Given the description of an element on the screen output the (x, y) to click on. 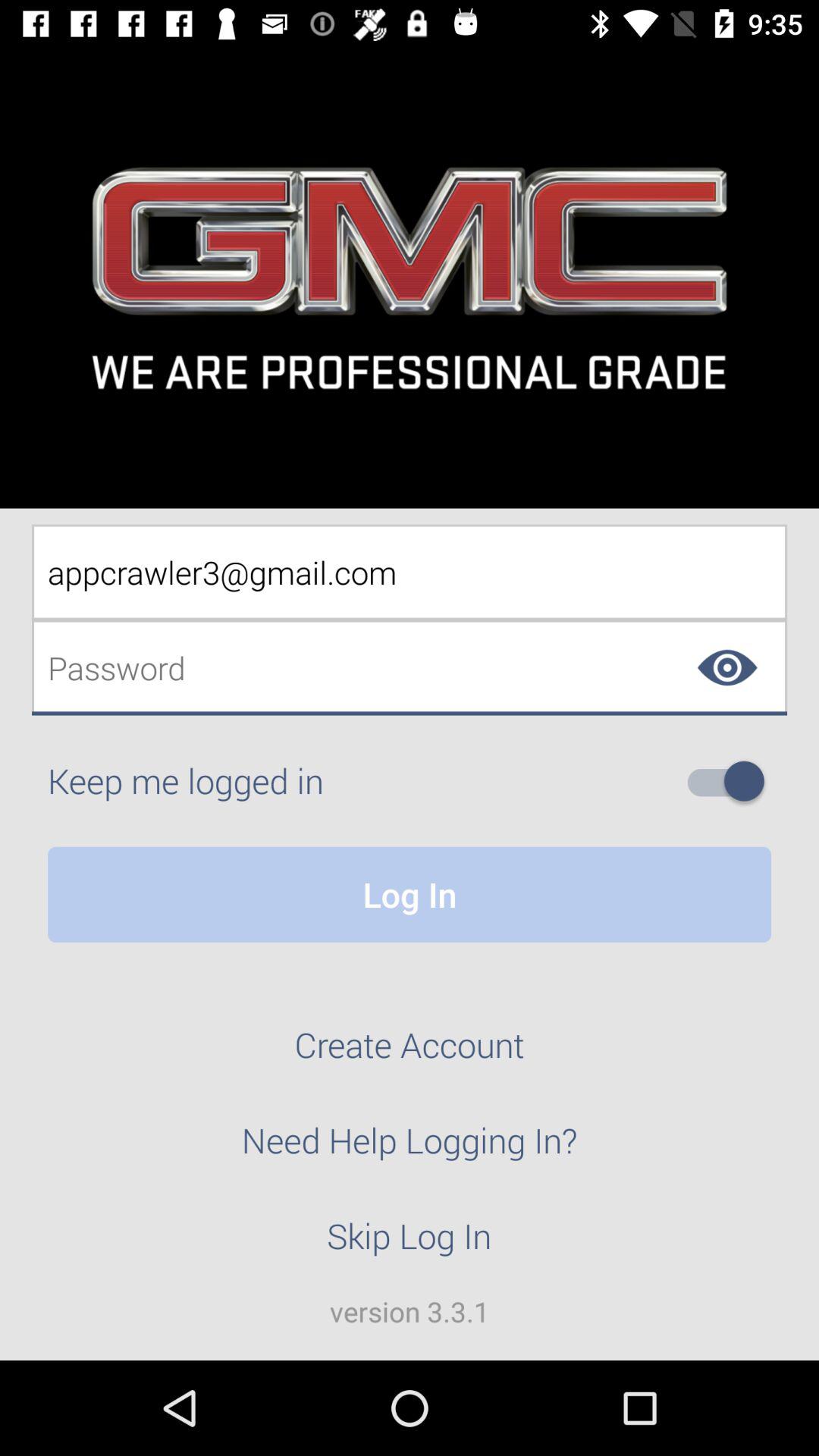
open option (731, 781)
